Given the description of an element on the screen output the (x, y) to click on. 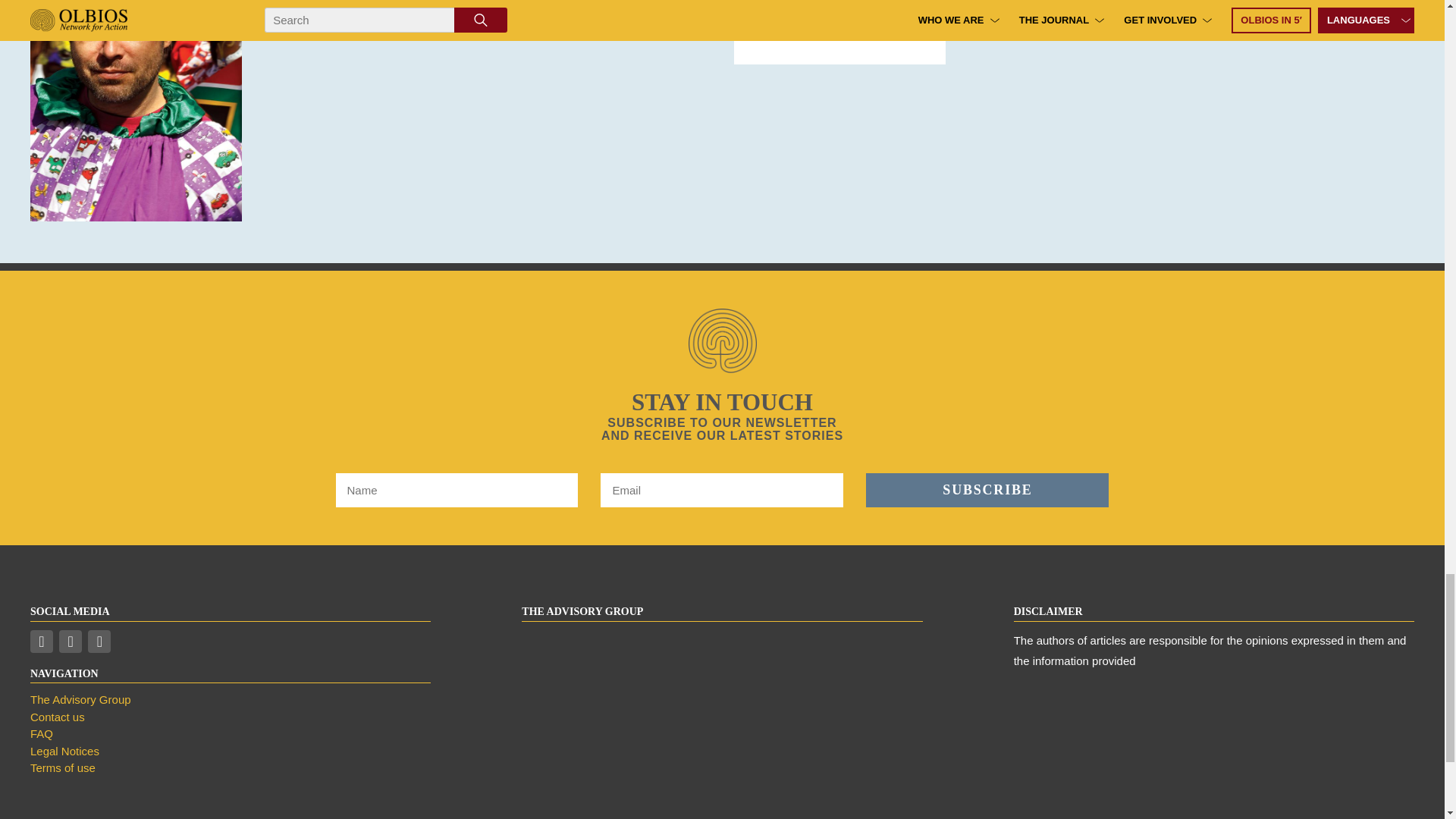
Subscribe (987, 489)
